Given the description of an element on the screen output the (x, y) to click on. 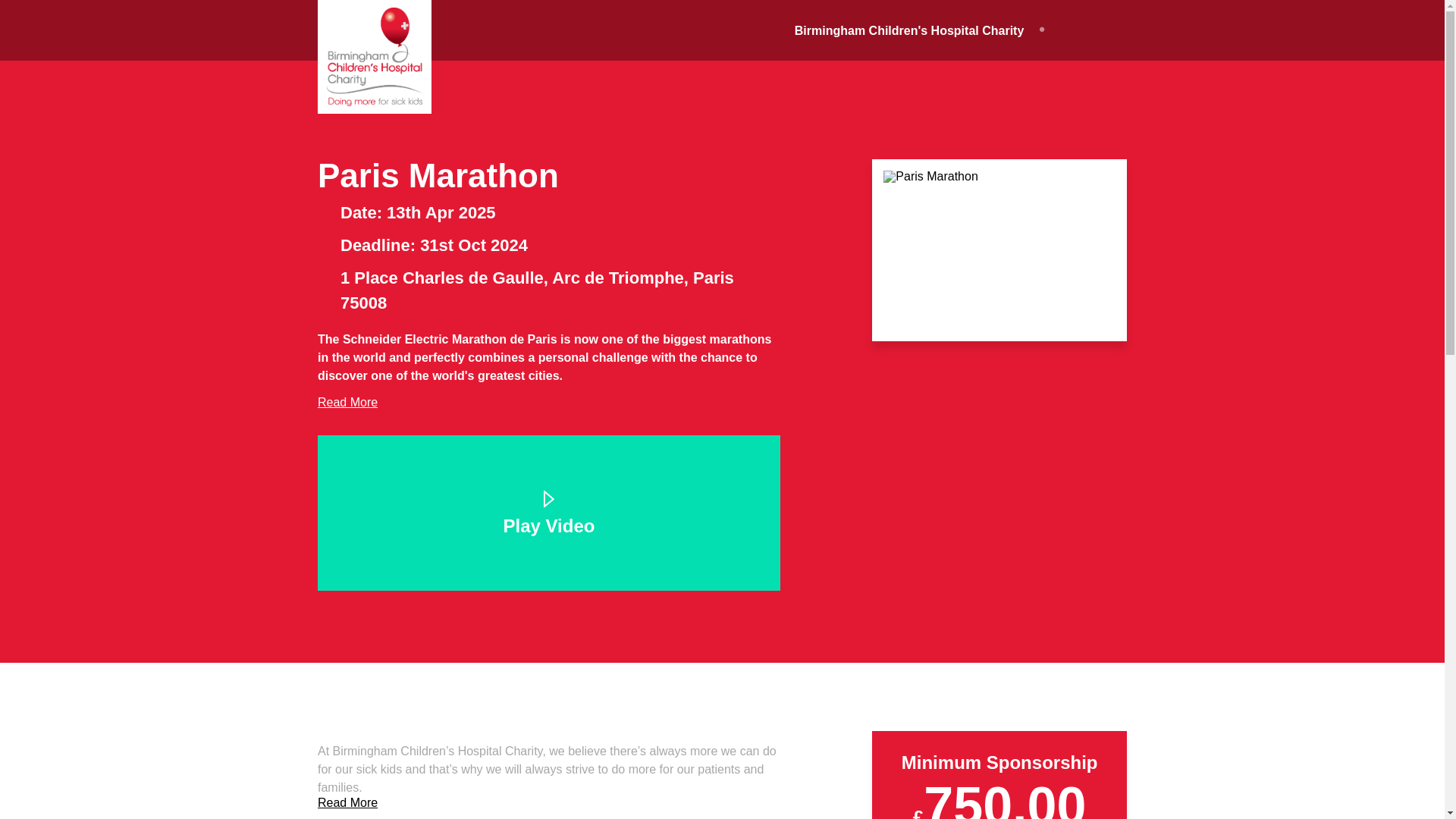
Facebook (1065, 30)
Play Video (548, 515)
Twitter (1093, 30)
Instagram (1120, 30)
